Given the description of an element on the screen output the (x, y) to click on. 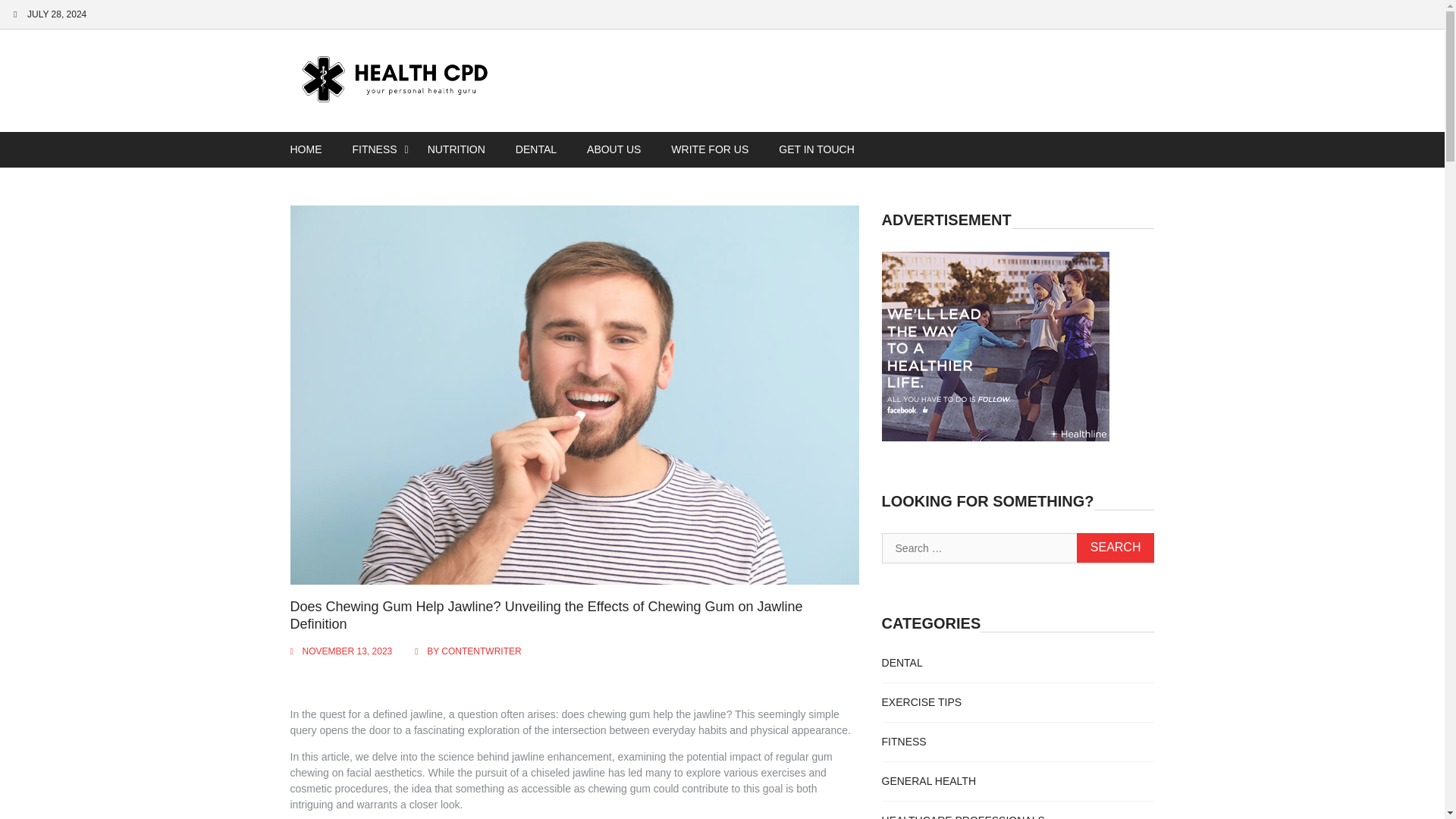
NUTRITION (456, 149)
Exercise Tips blogs. (922, 702)
Blogs about fitness (904, 741)
HEALTHCARE PROFESSIONALS (963, 816)
WRITE FOR US (709, 149)
FITNESS (374, 149)
Search (1115, 547)
CONTENTWRITER (481, 651)
Search (1115, 547)
Dental health blogs. (902, 662)
GET IN TOUCH (815, 149)
DENTAL (536, 149)
HOME (305, 149)
NOVEMBER 13, 2023 (346, 651)
Search (1115, 547)
